Given the description of an element on the screen output the (x, y) to click on. 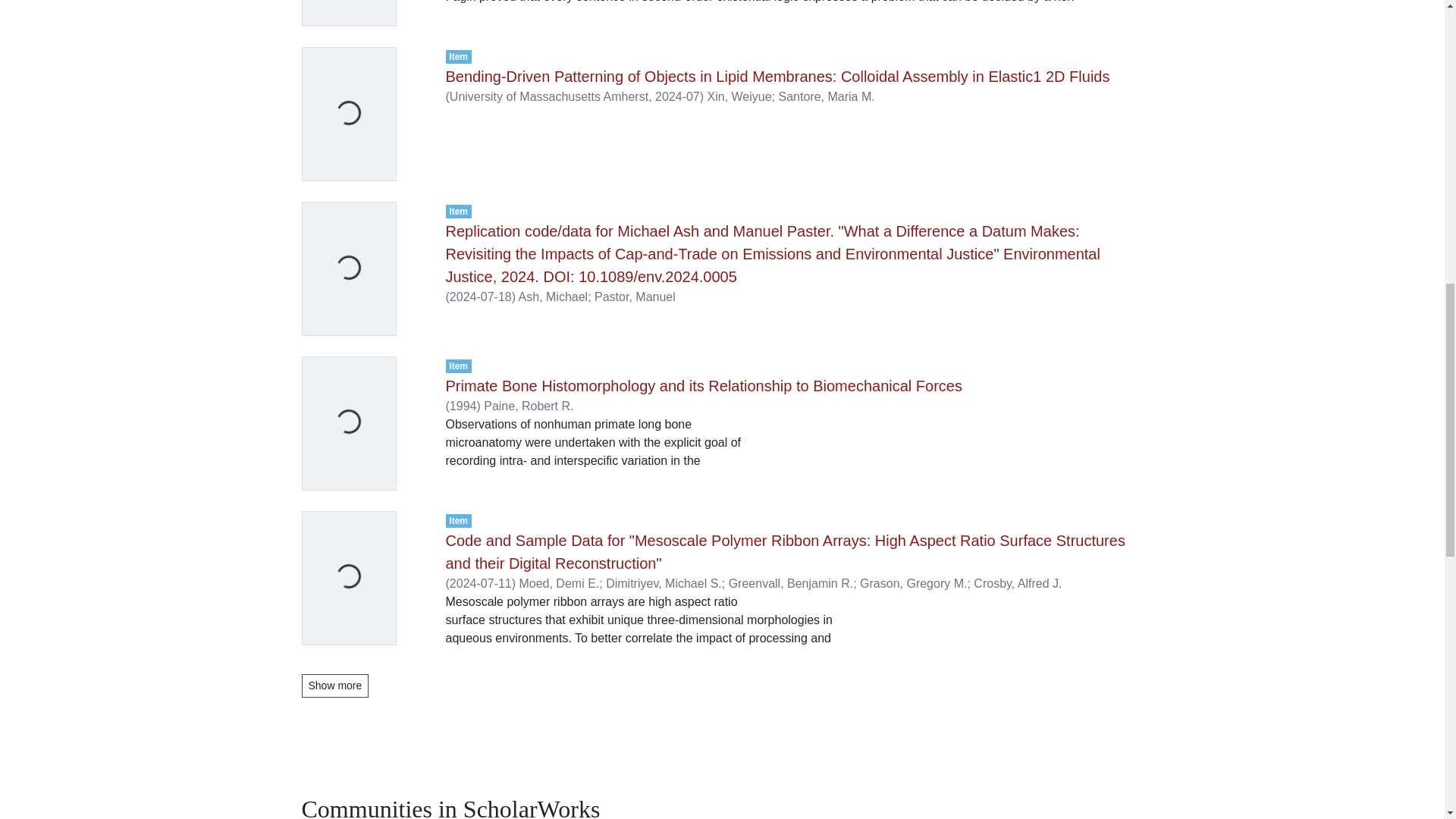
Loading... (365, 330)
Loading... (365, 21)
Loading... (365, 639)
Loading... (365, 484)
Loading... (365, 175)
